Given the description of an element on the screen output the (x, y) to click on. 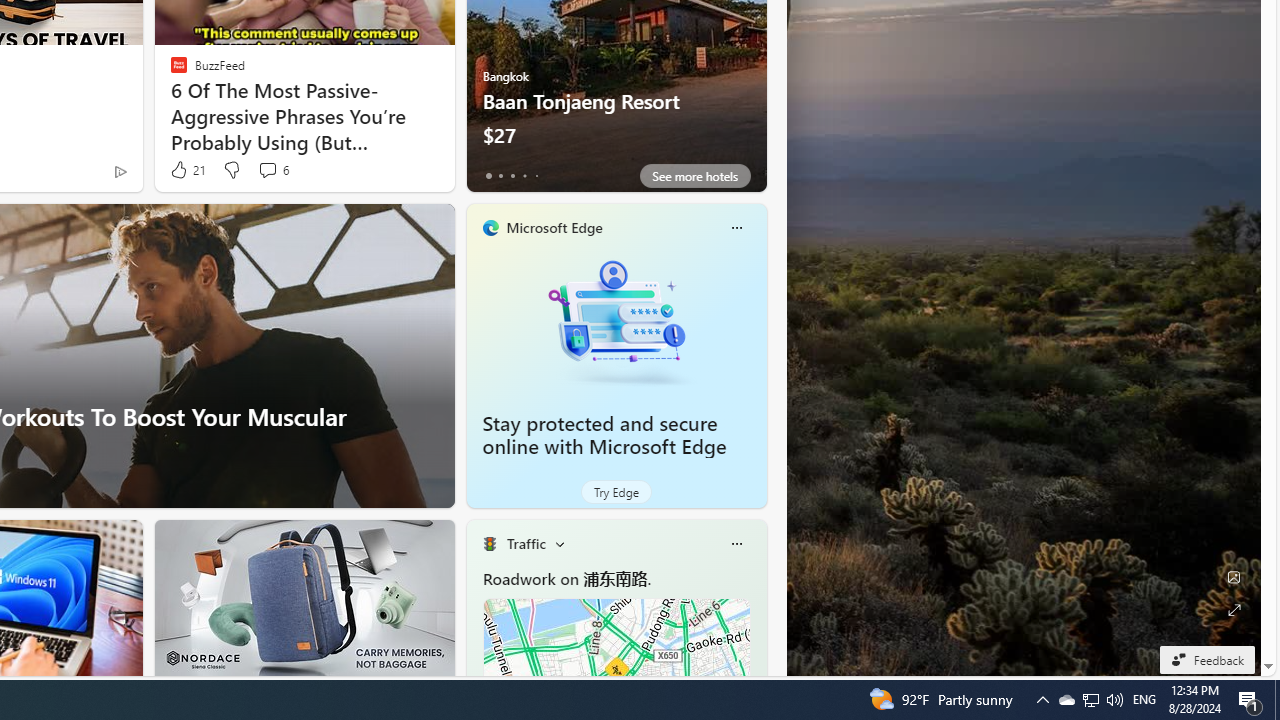
Microsoft Edge (553, 227)
Traffic Title Traffic Light (489, 543)
21 Like (186, 170)
Change scenarios (559, 543)
Edit Background (1233, 577)
View comments 6 Comment (267, 169)
tab-2 (511, 175)
Try Edge (616, 491)
tab-4 (535, 175)
Stay protected and secure online with Microsoft Edge (604, 435)
